Given the description of an element on the screen output the (x, y) to click on. 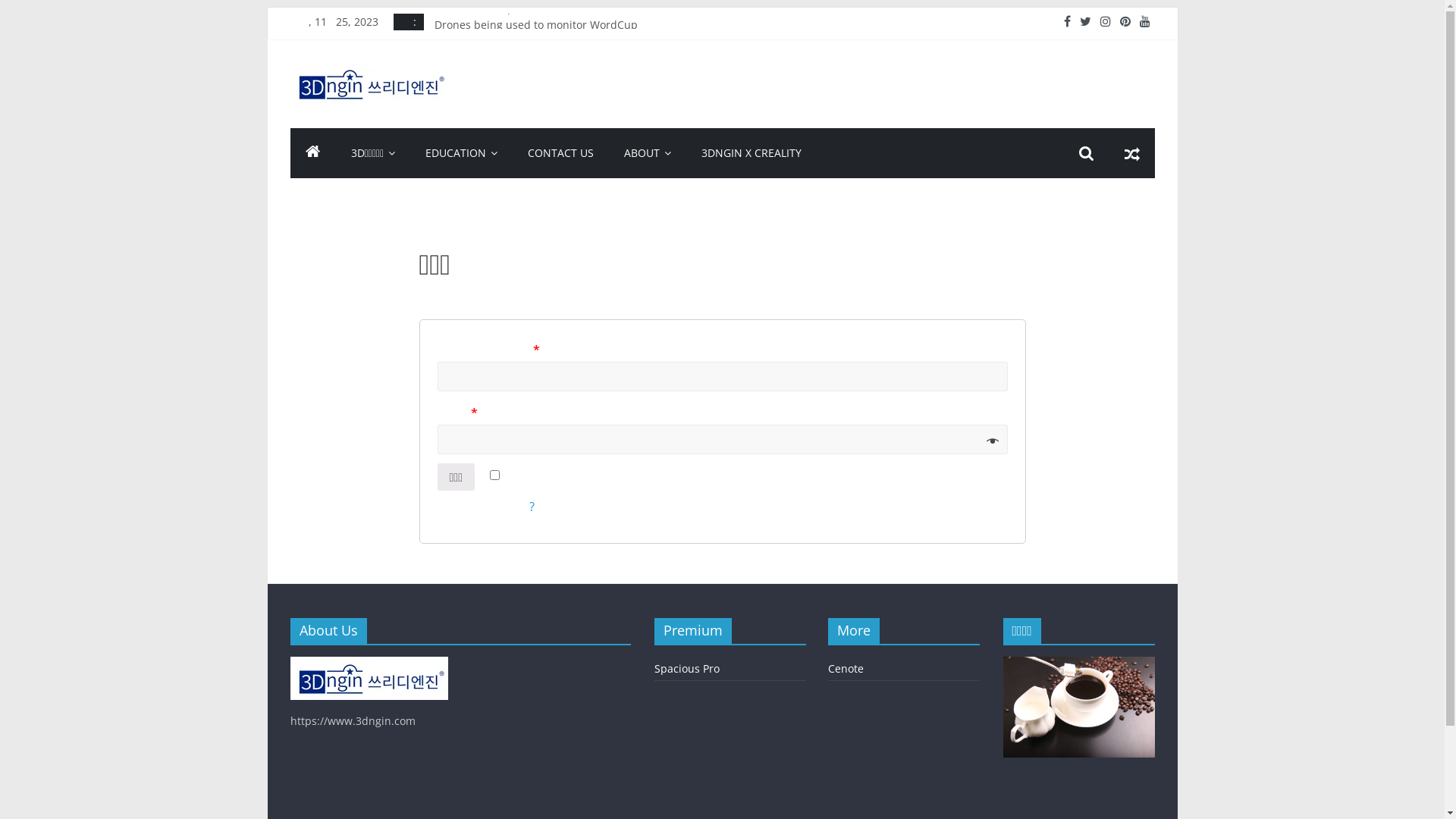
COLORMAG Element type: hover (368, 663)
Wireless Headphones are now on Market Element type: text (538, 89)
Drones being used to monitor WordCup Element type: text (535, 21)
3DNGIN Element type: hover (312, 153)
CONTACT US Element type: text (560, 153)
3DNGIN X CREALITY Element type: text (751, 153)
Coffee is health food: Myth or fact? Element type: text (521, 38)
Teens use apps to keep secrets? Element type: text (515, 55)
Fastest plane in the world Element type: text (499, 72)
Cenote Element type: text (845, 668)
Spacious Pro Element type: text (685, 668)
Skip to content Element type: text (266, 6)
ABOUT Element type: text (647, 153)
3DNGIN Element type: text (355, 81)
EDUCATION Element type: text (461, 153)
